Given the description of an element on the screen output the (x, y) to click on. 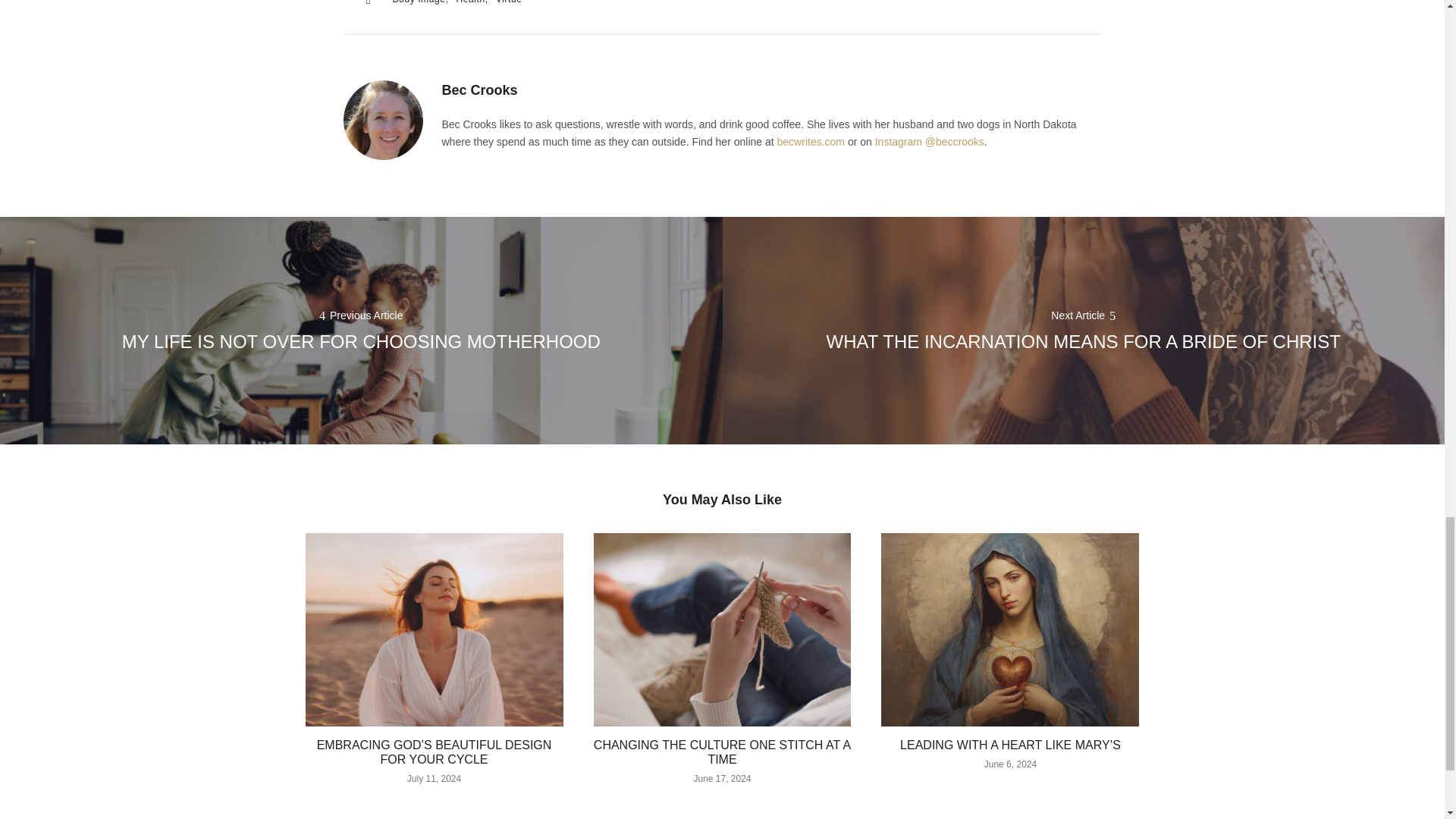
June 17, 2024 (722, 778)
Body Image (420, 4)
CHANGING THE CULTURE ONE STITCH AT A TIME (722, 751)
Virtue (509, 4)
becwrites.com (810, 141)
Bec Crooks (478, 89)
July 11, 2024 (434, 778)
June 6, 2024 (1010, 764)
Health (471, 4)
